Given the description of an element on the screen output the (x, y) to click on. 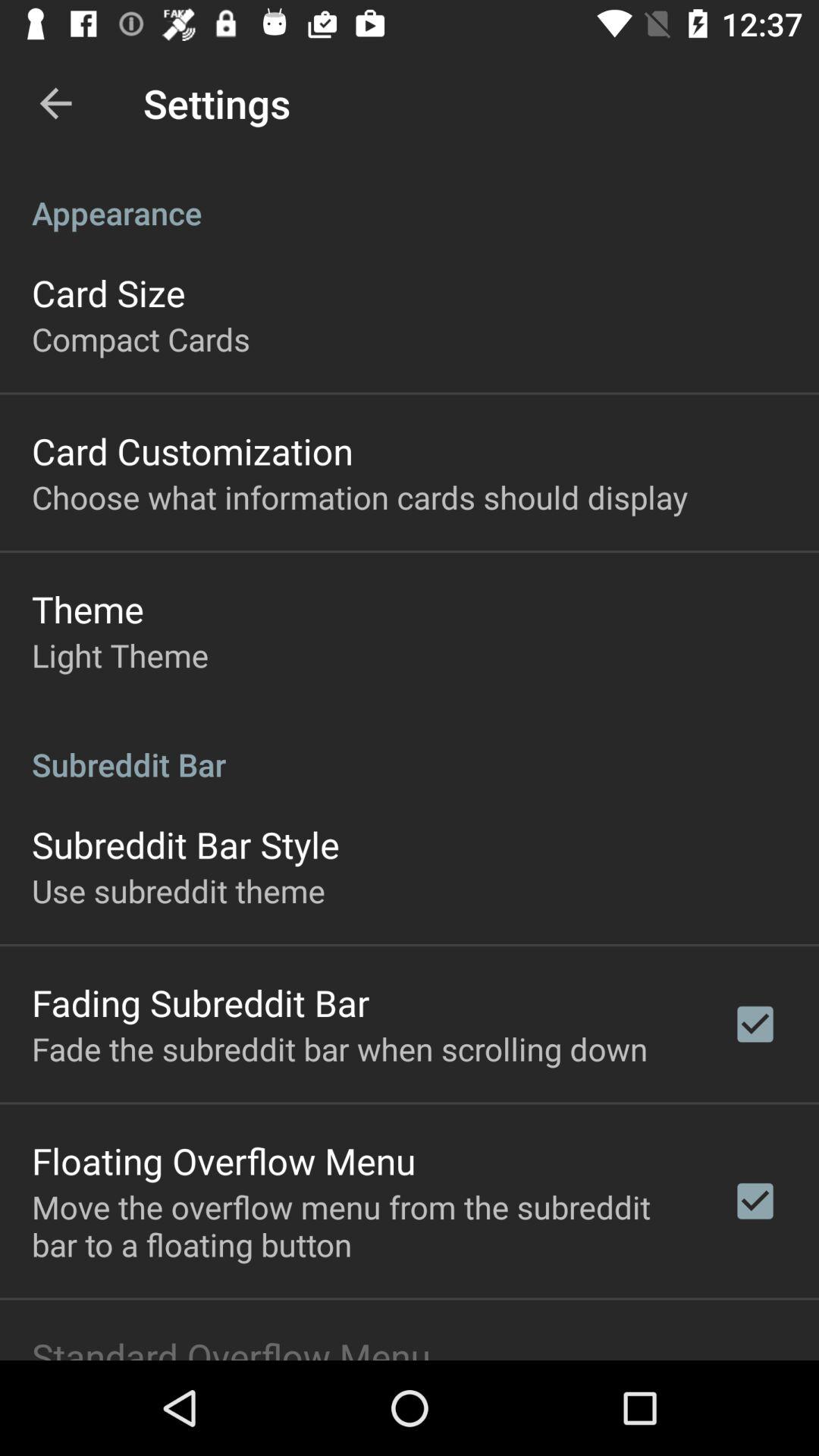
swipe to the compact cards (140, 338)
